Given the description of an element on the screen output the (x, y) to click on. 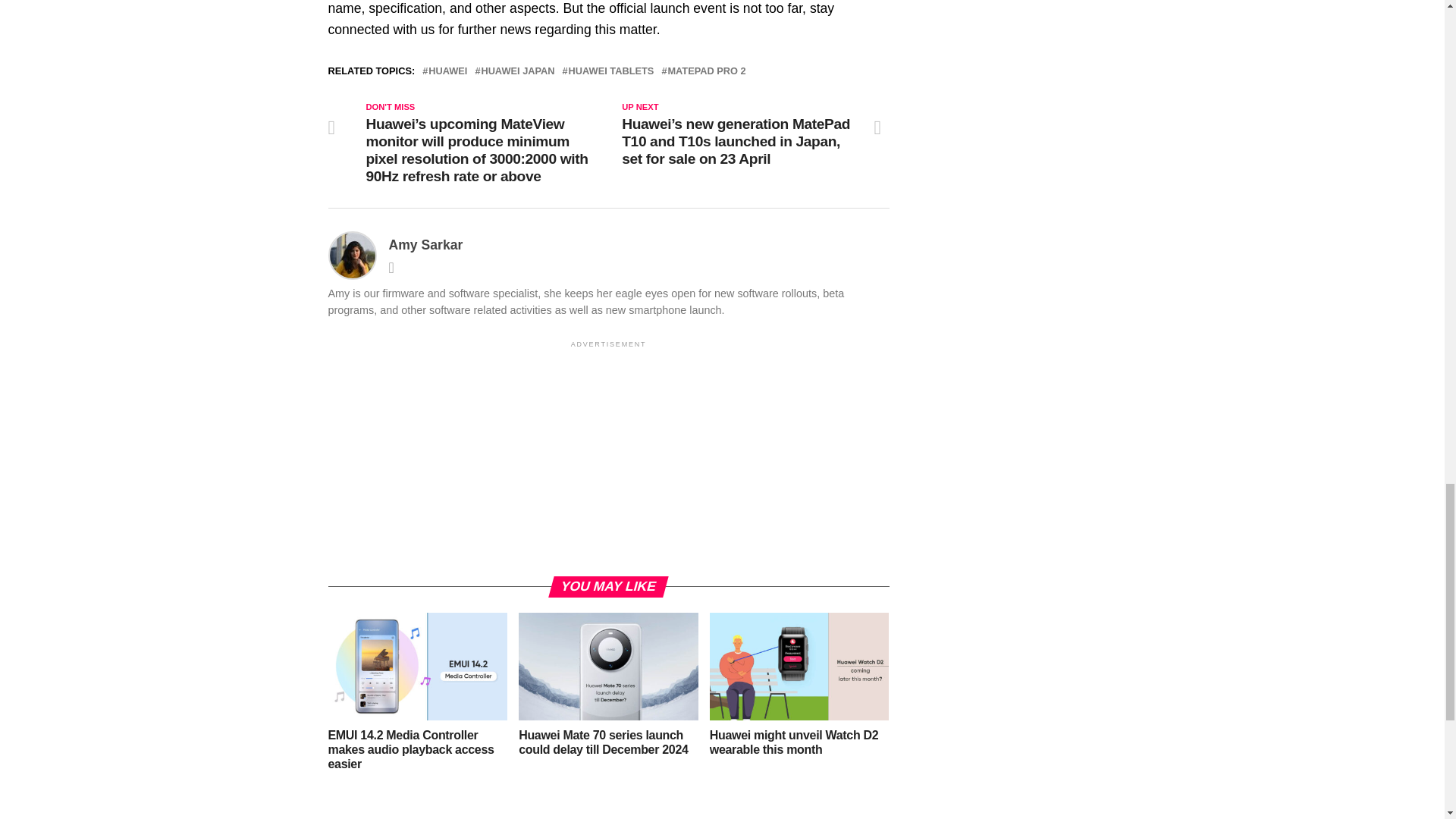
Posts by Amy Sarkar (425, 244)
